Given the description of an element on the screen output the (x, y) to click on. 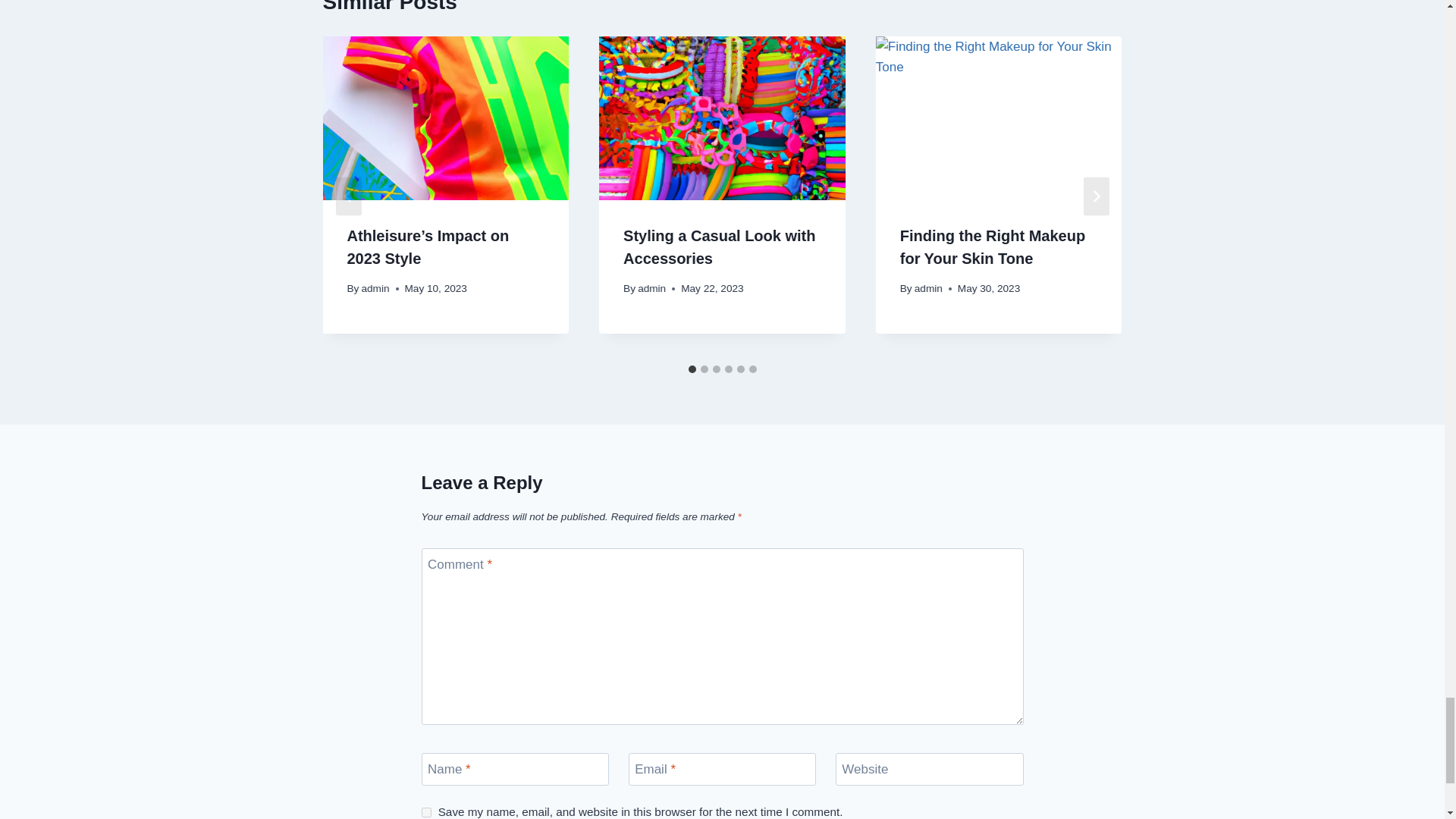
yes (426, 812)
